Given the description of an element on the screen output the (x, y) to click on. 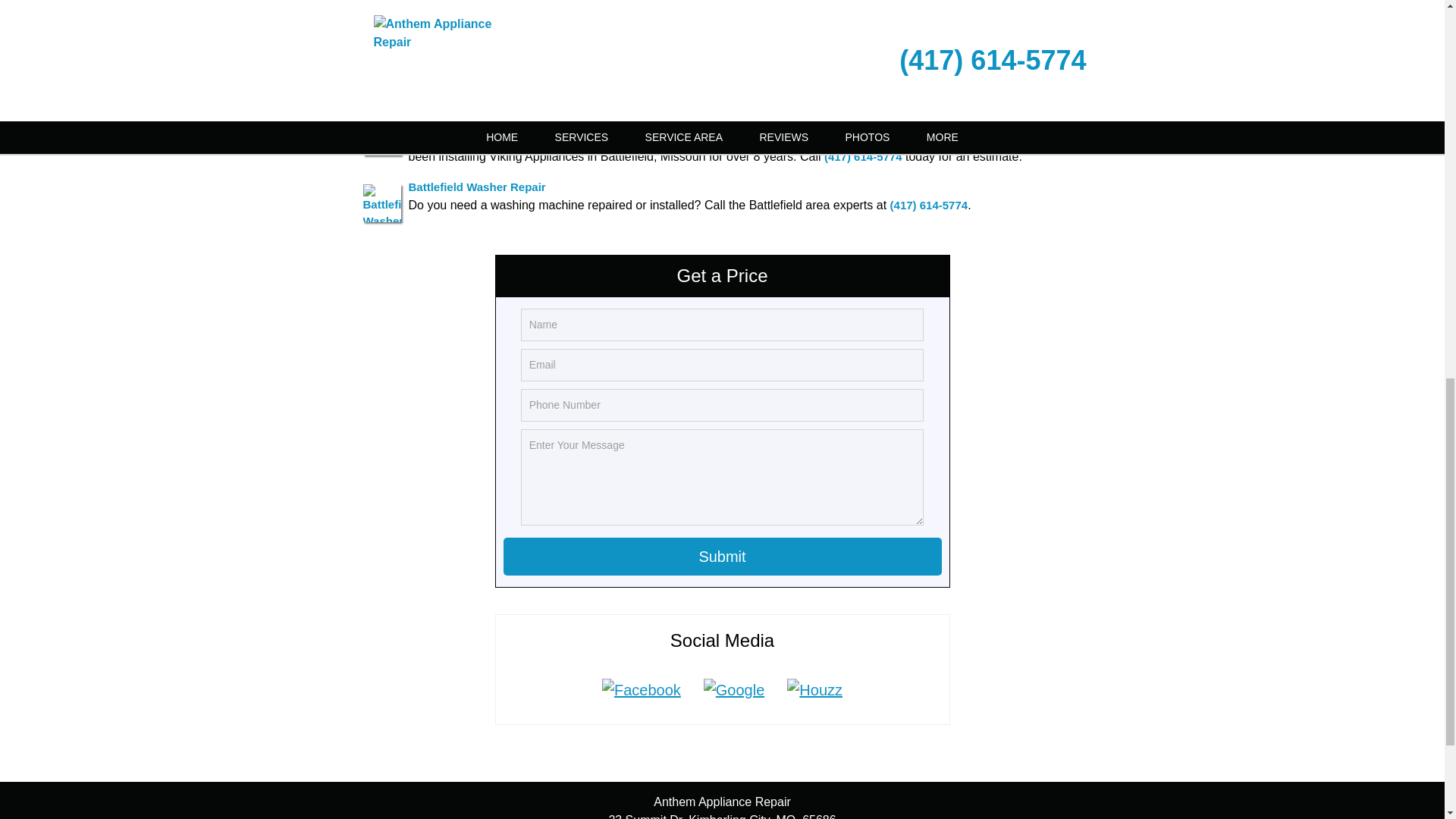
Facebook (642, 689)
Battlefield Refrigerator Repair (488, 52)
Houzz (814, 689)
Google (734, 689)
